Given the description of an element on the screen output the (x, y) to click on. 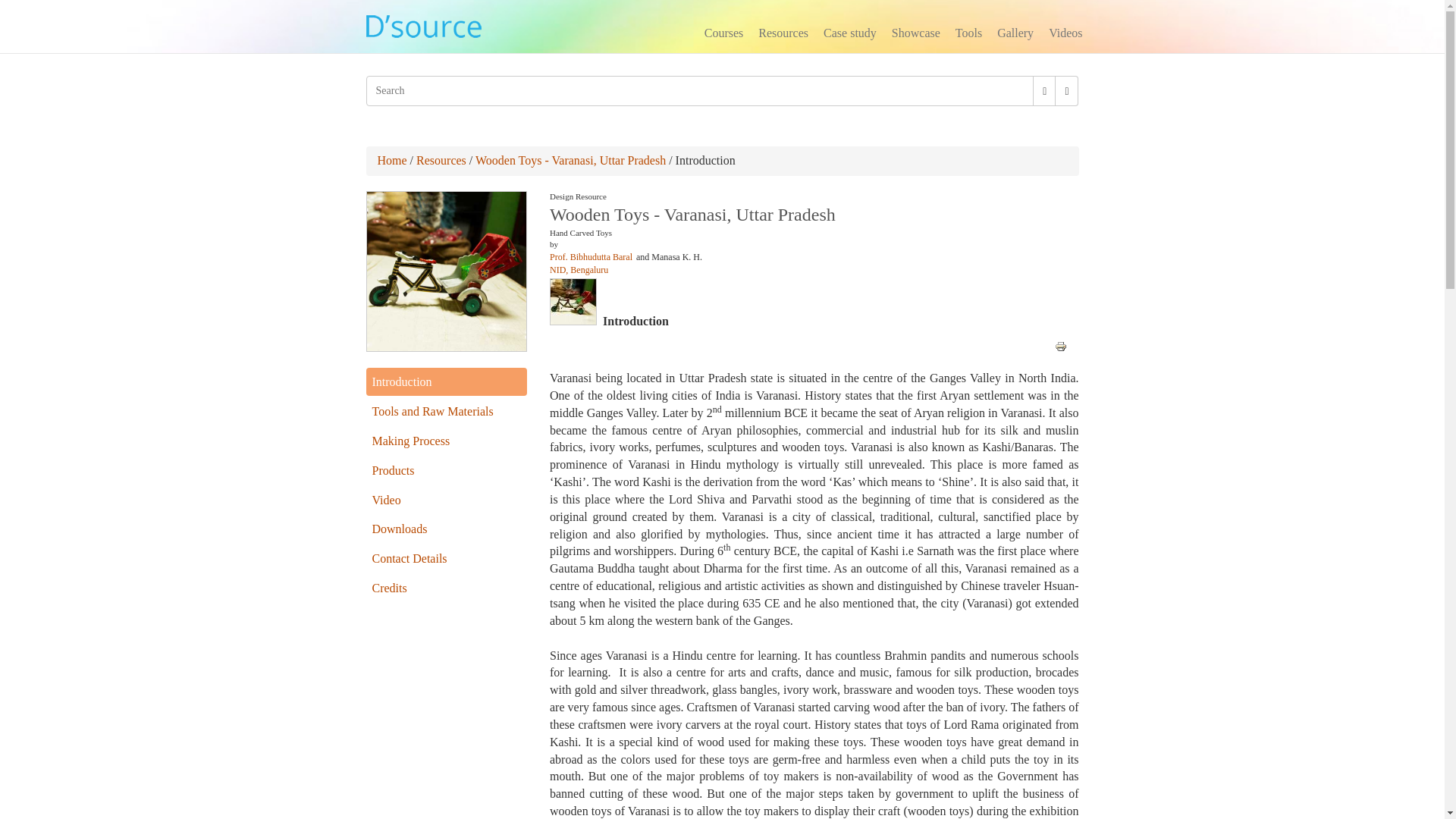
Resources (783, 35)
Home (392, 160)
Showcase (915, 35)
Courses (724, 35)
NID, Bengaluru (579, 269)
Search (371, 108)
Wooden Toys - Varanasi, Uttar Pradesh (570, 160)
Search (371, 108)
Enter the terms you wish to search for. (699, 91)
Videos (1065, 35)
Tools (968, 35)
Prof. Bibhudutta Baral (590, 256)
Printer-friendly version (1059, 346)
Display a printer-friendly version of this page. (1059, 344)
Gallery (1015, 35)
